Given the description of an element on the screen output the (x, y) to click on. 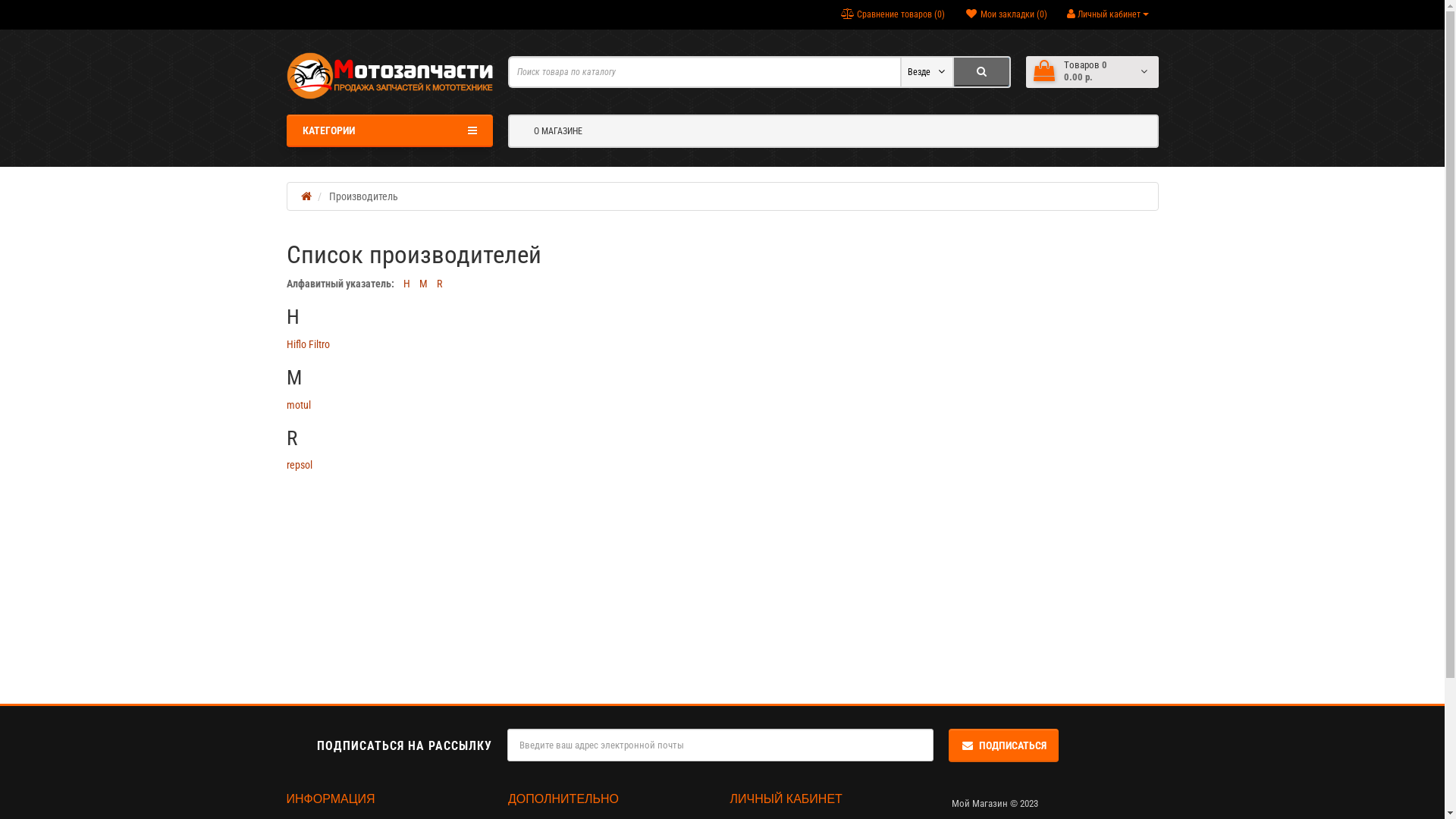
repsol Element type: text (299, 464)
Hiflo Filtro Element type: text (307, 344)
R Element type: text (439, 283)
M Element type: text (422, 283)
motul Element type: text (298, 404)
H Element type: text (406, 283)
